Given the description of an element on the screen output the (x, y) to click on. 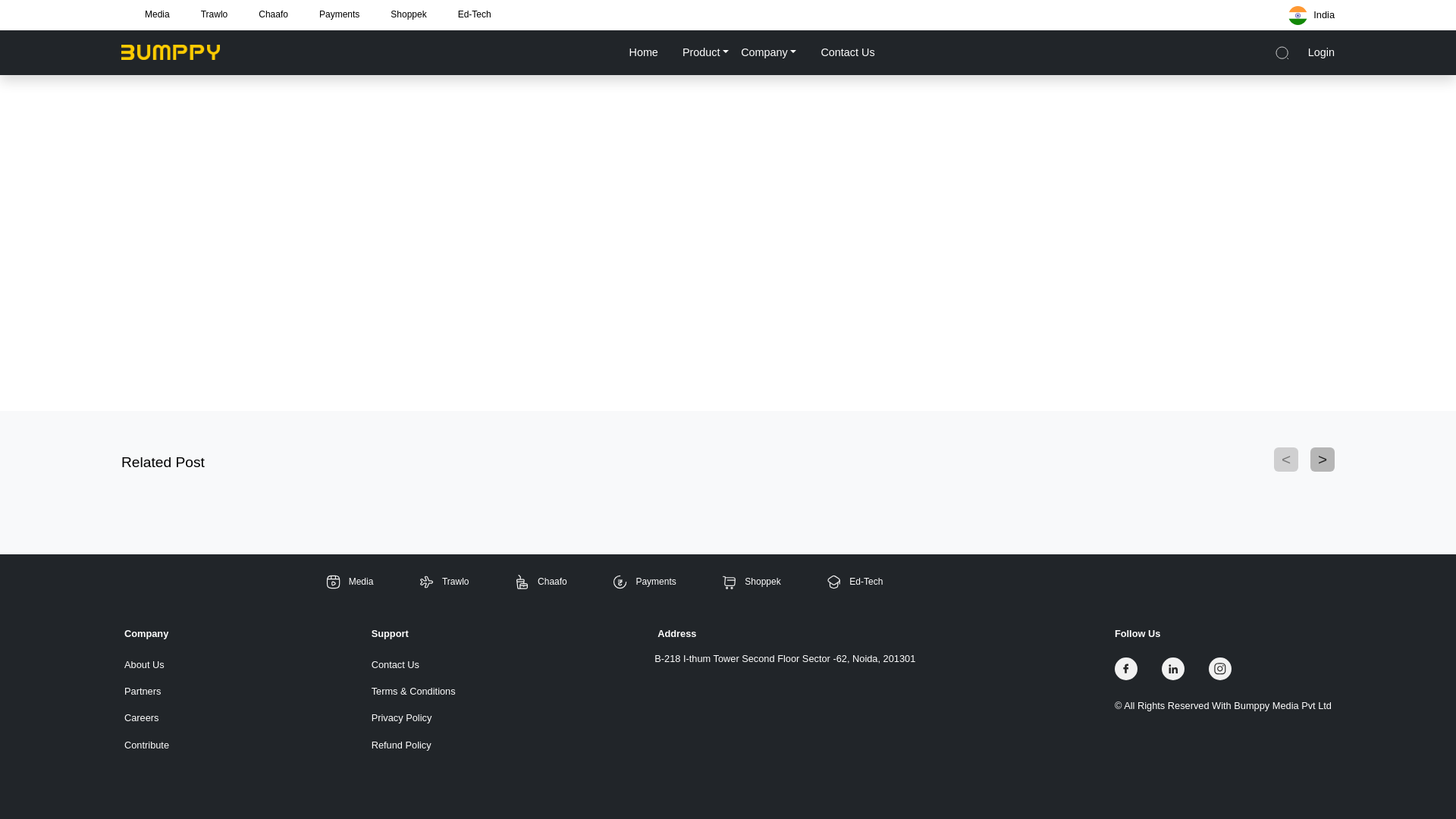
Careers (145, 717)
B-218 I-thum Tower Second Floor Sector -62, Noida, 201301 (784, 658)
About Us (145, 664)
Contact Us (413, 664)
Contribute (145, 745)
Partners (145, 691)
Privacy Policy (413, 717)
Refund Policy (413, 745)
